Given the description of an element on the screen output the (x, y) to click on. 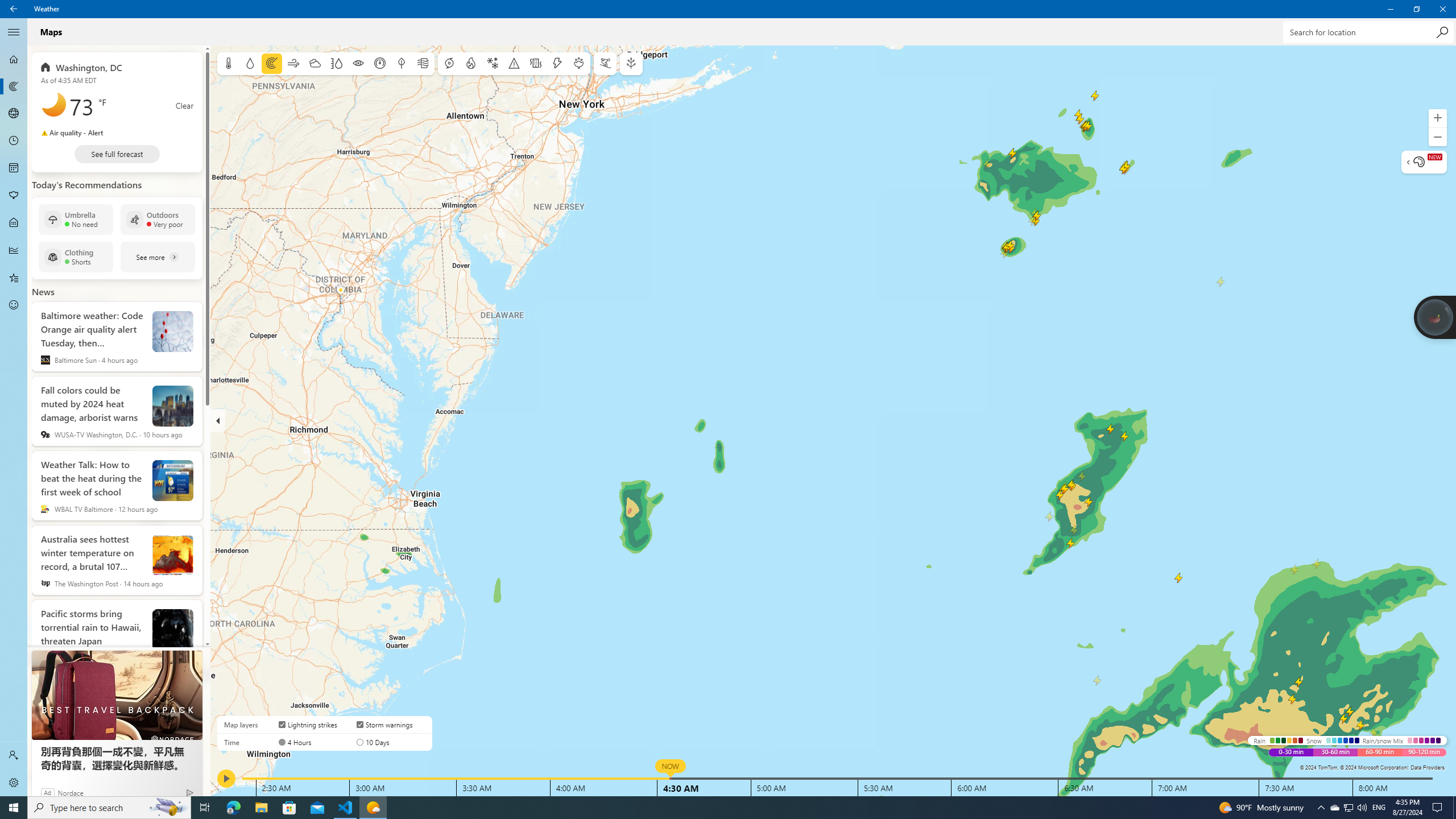
Favorites - Not Selected (13, 277)
Hourly Forecast - Not Selected (13, 140)
Close Weather (1442, 9)
Settings (13, 782)
Send Feedback - Not Selected (13, 304)
Life - Not Selected (13, 222)
Restore Weather (1416, 9)
Maps - Not Selected (13, 85)
Send Feedback - Not Selected (13, 304)
Collapse Navigation (13, 31)
